Given the description of an element on the screen output the (x, y) to click on. 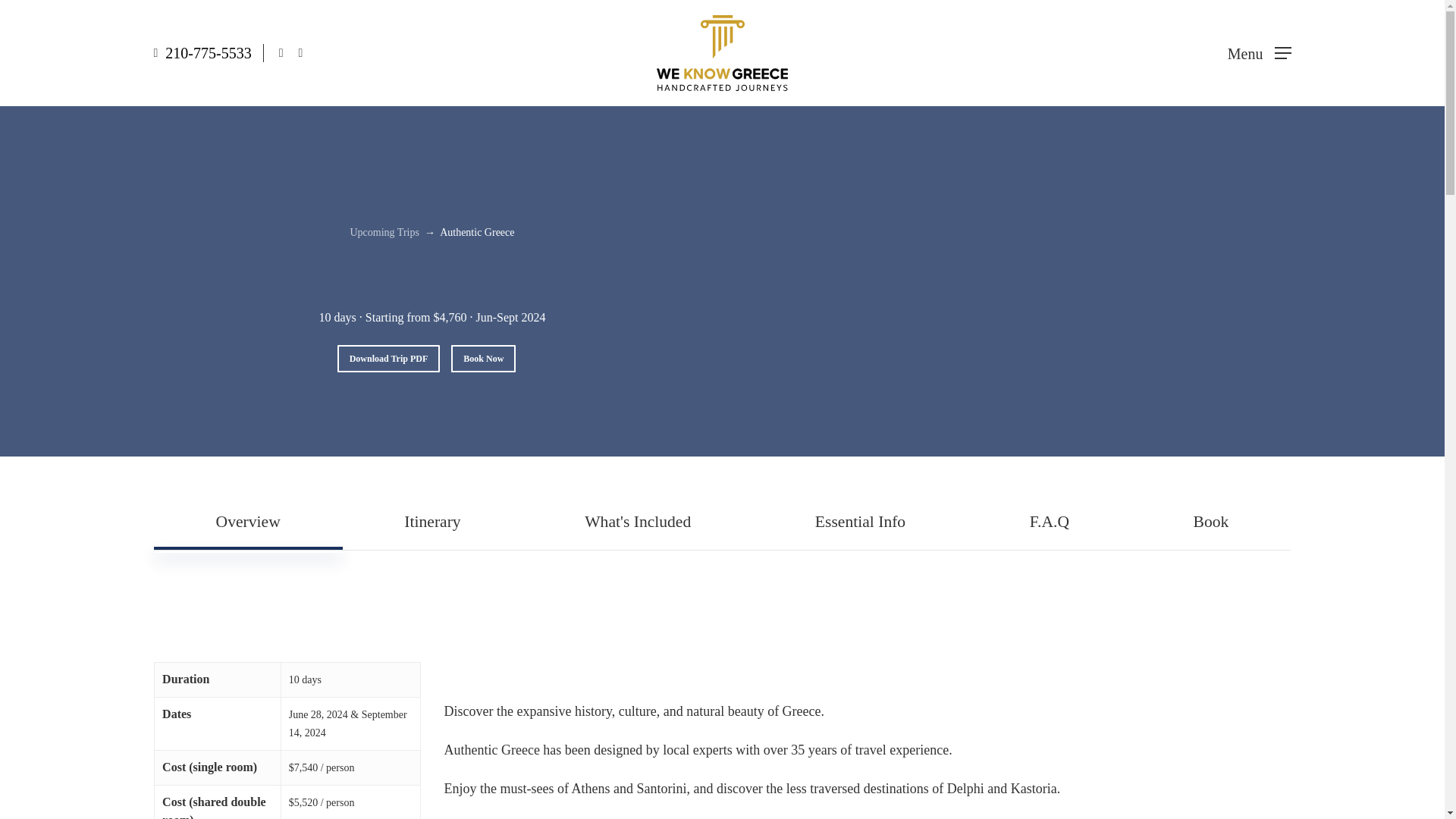
210-775-5533 (207, 53)
Book (1210, 521)
Menu (1259, 53)
Overview (248, 521)
Download Trip PDF (389, 358)
What's Included (637, 521)
Upcoming Trips (384, 232)
F.A.Q (1049, 521)
Itinerary (432, 521)
Book Now (483, 358)
Essential Info (860, 521)
